Given the description of an element on the screen output the (x, y) to click on. 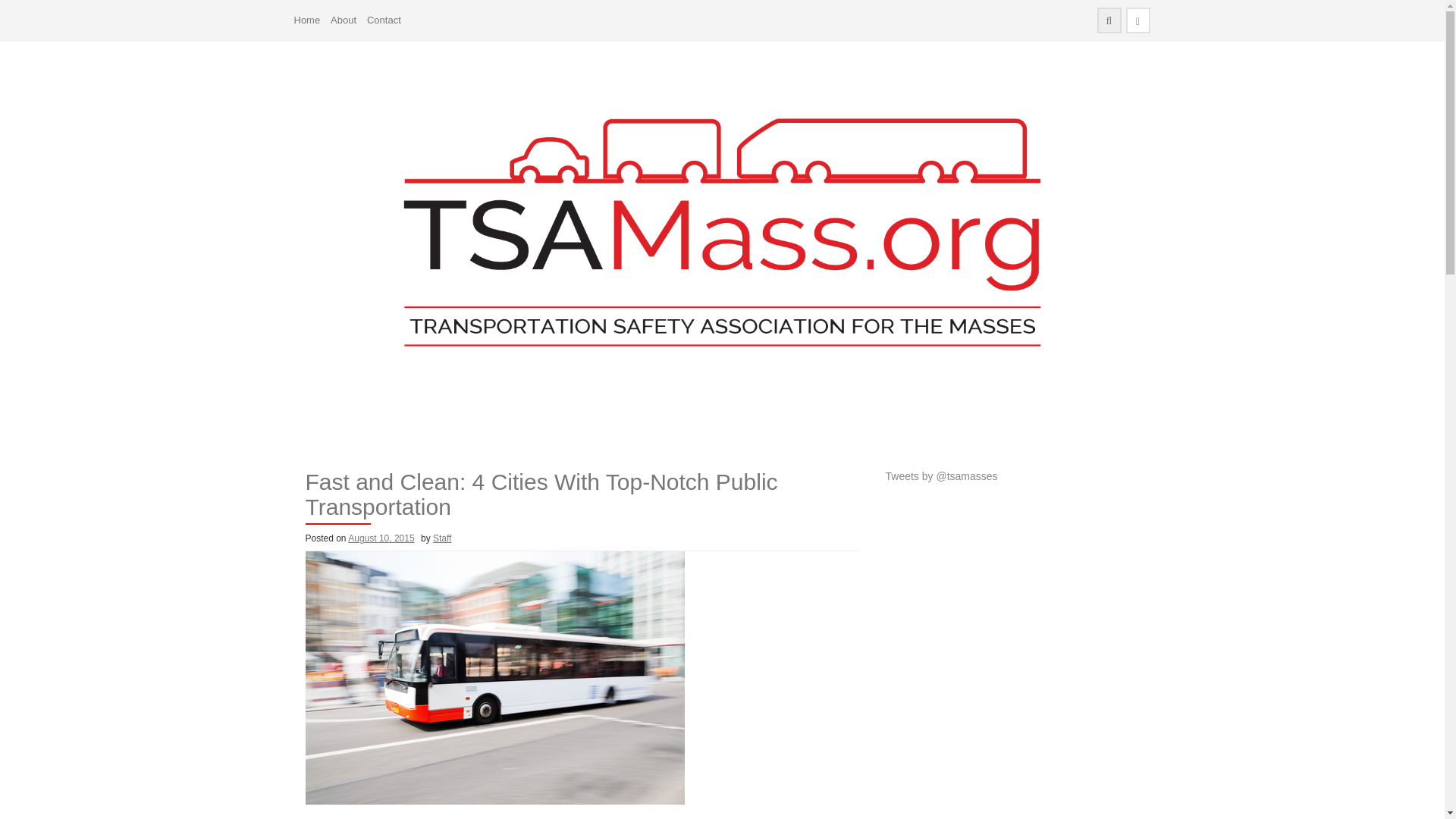
August 10, 2015 (380, 538)
Contact (383, 20)
About (342, 20)
Search (24, 9)
Home (306, 20)
Staff (441, 538)
